Given the description of an element on the screen output the (x, y) to click on. 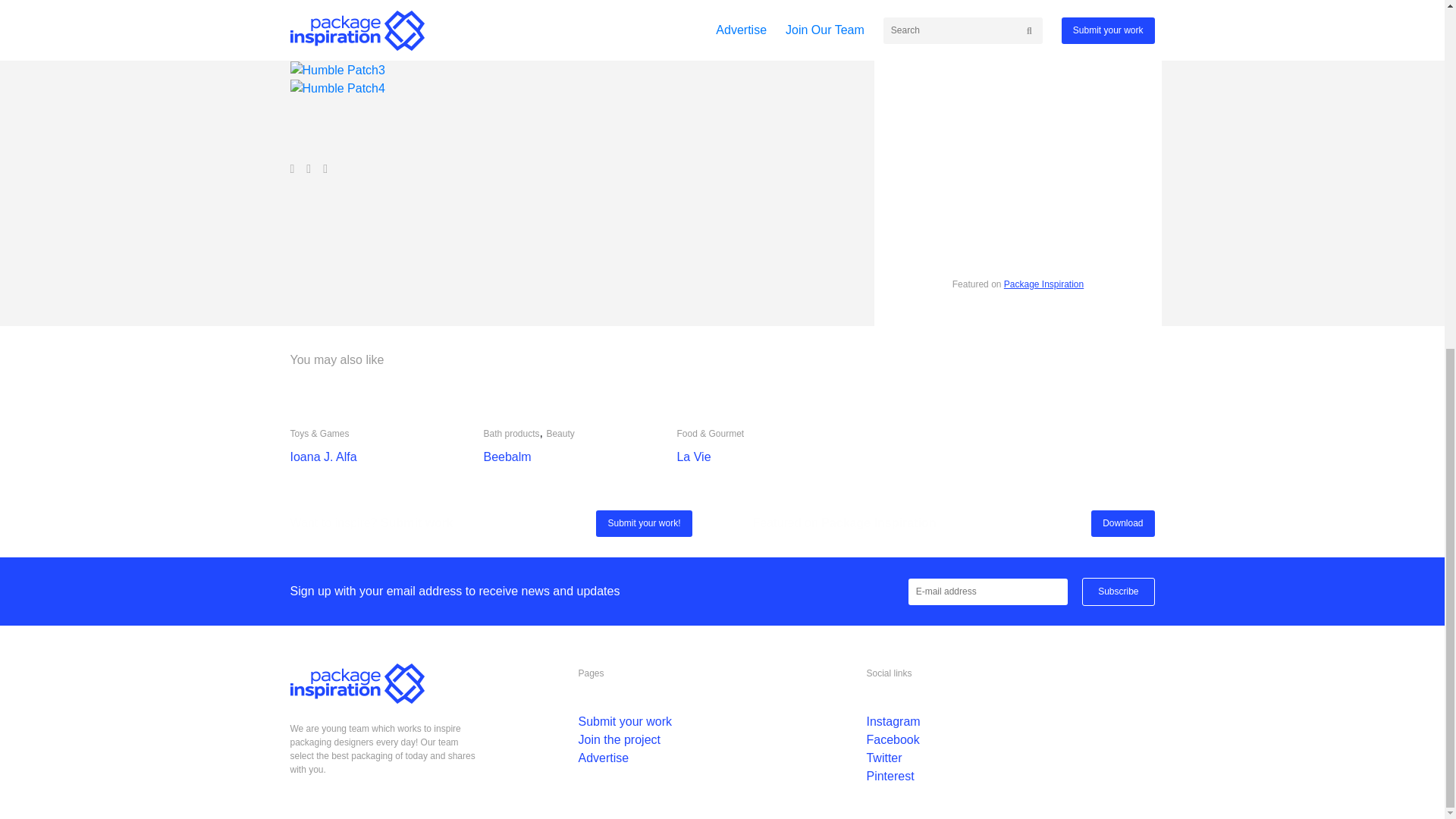
La Vie (693, 456)
Ioana J. Alfa (322, 456)
Submit your work (624, 721)
Download (1122, 523)
Subscribe (1117, 592)
Beebalm (507, 456)
Subscribe (1117, 592)
Package Inspiration (1043, 284)
Submit your work! (643, 523)
Join the project (619, 739)
